Given the description of an element on the screen output the (x, y) to click on. 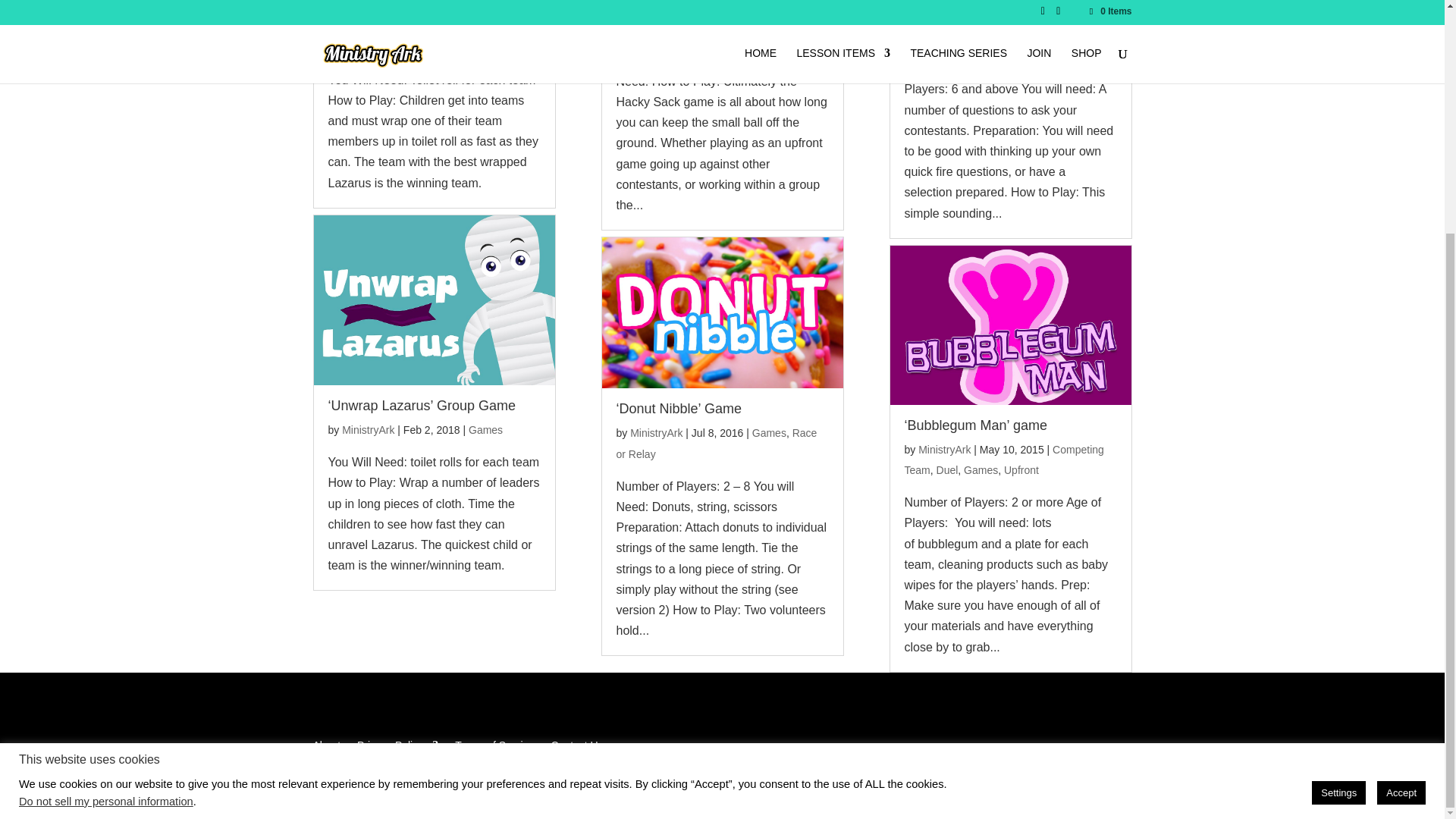
Posts by MinistryArk (944, 449)
Competing Team (426, 36)
Posts by MinistryArk (368, 429)
Games (376, 46)
Posts by MinistryArk (656, 7)
MinistryArk (368, 26)
Posts by MinistryArk (656, 432)
Posts by MinistryArk (368, 26)
MinistryArk (368, 429)
Posts by MinistryArk (944, 15)
